Given the description of an element on the screen output the (x, y) to click on. 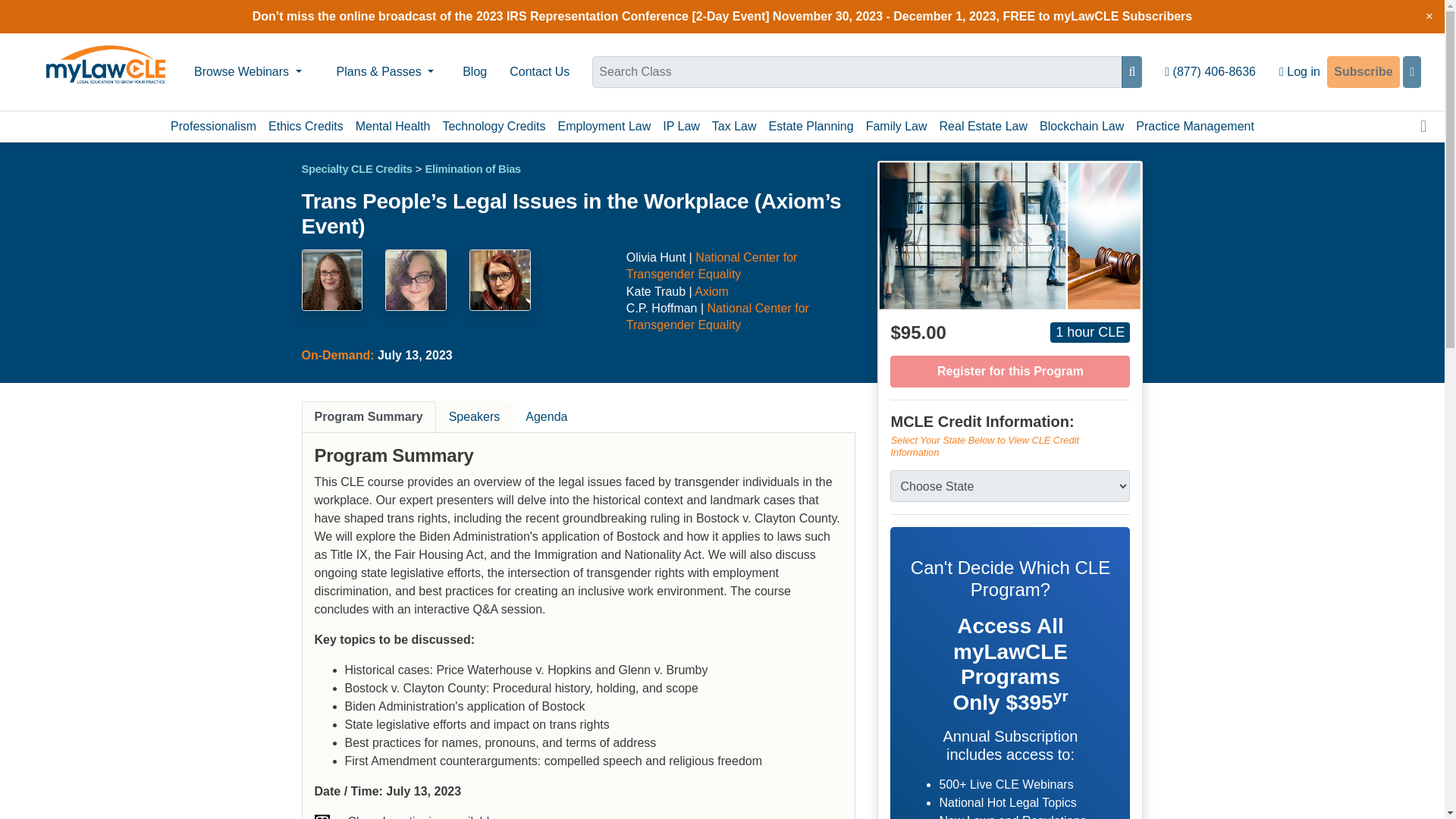
Browse Webinars (247, 71)
